Given the description of an element on the screen output the (x, y) to click on. 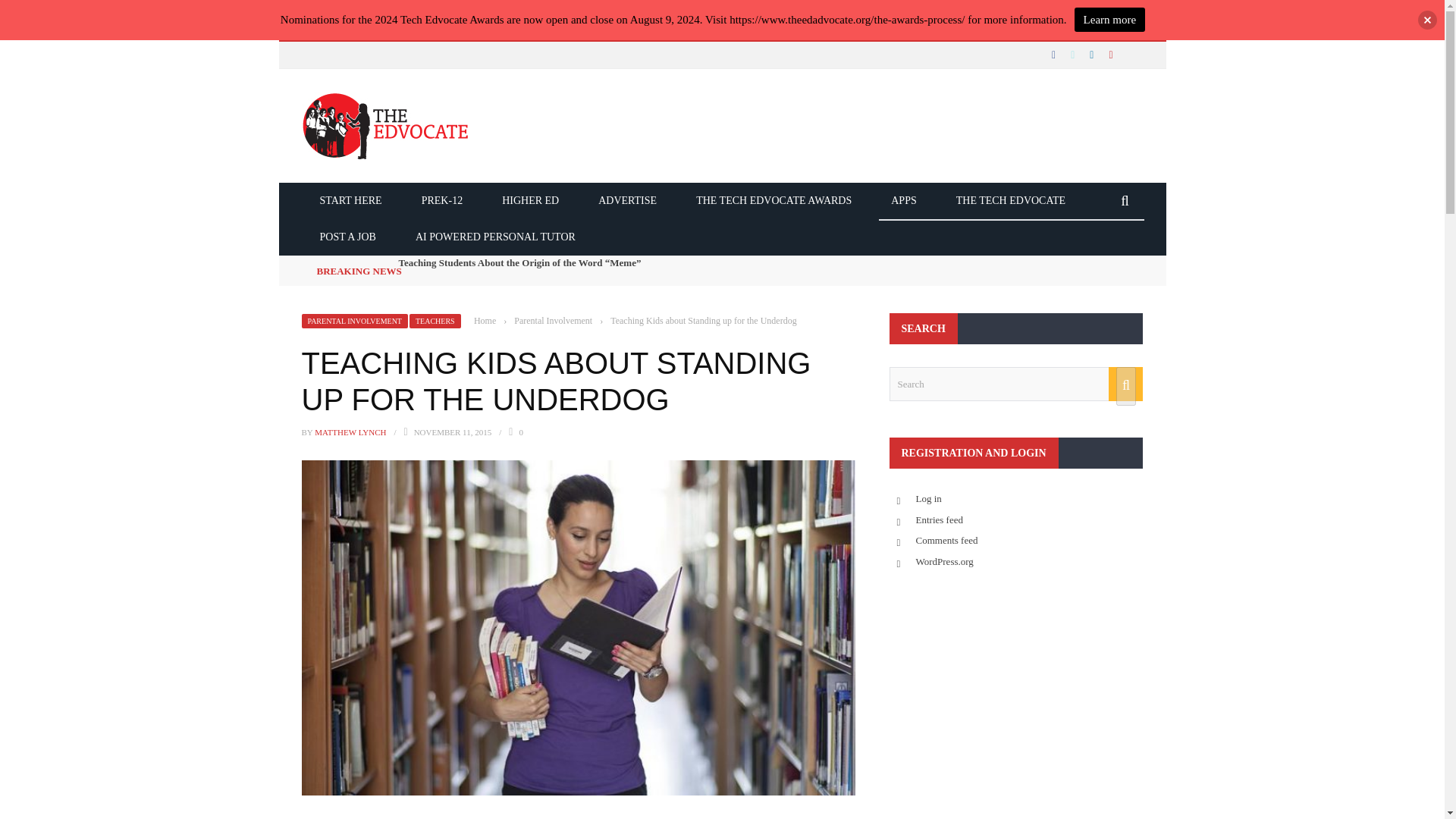
Search (1015, 384)
Advertisement (1015, 699)
